Given the description of an element on the screen output the (x, y) to click on. 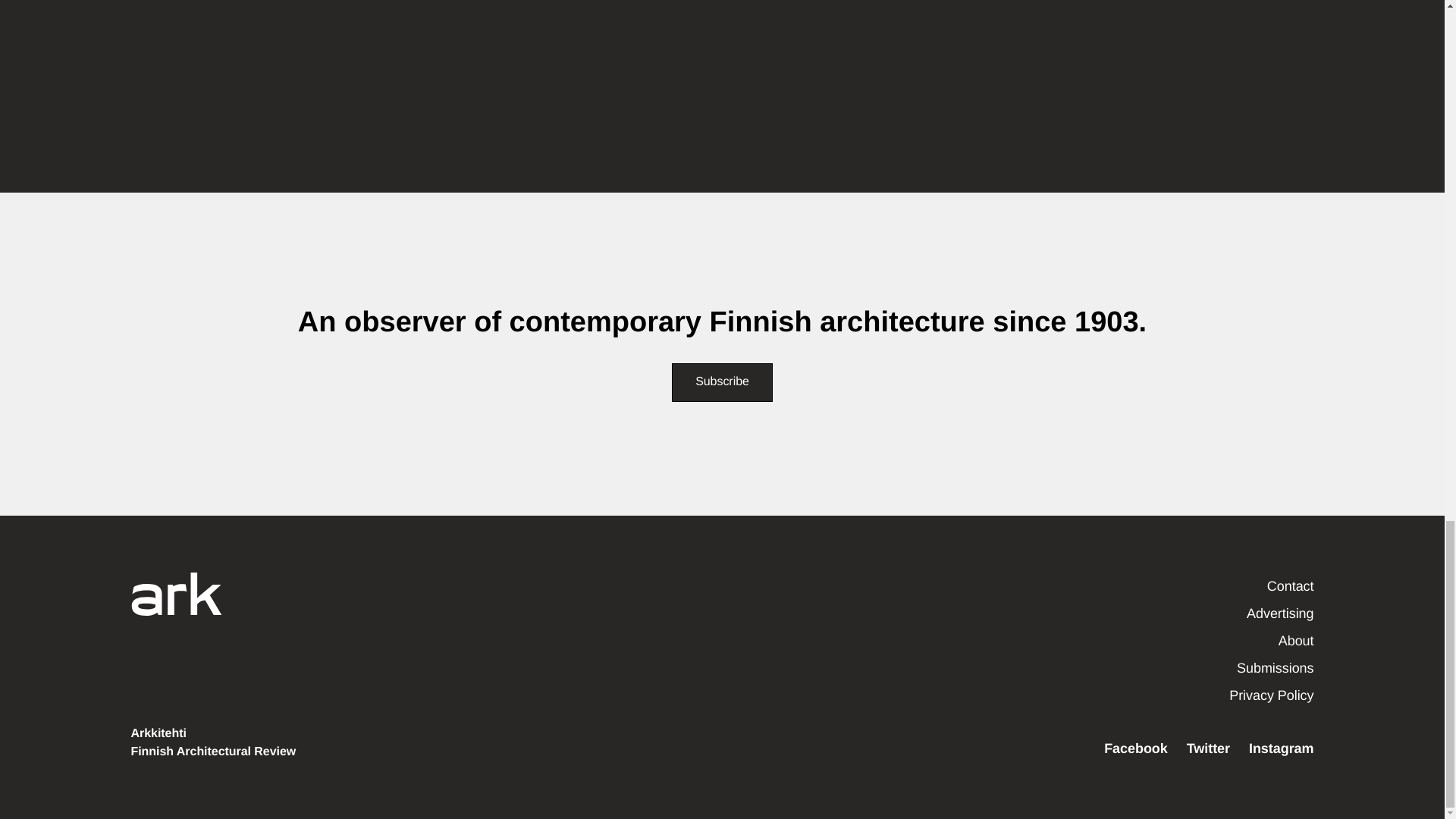
Magazine 81933 (233, 67)
Magazine 80773 (721, 67)
Magazine 79917 (965, 67)
Magazine 81404 (477, 67)
